Given the description of an element on the screen output the (x, y) to click on. 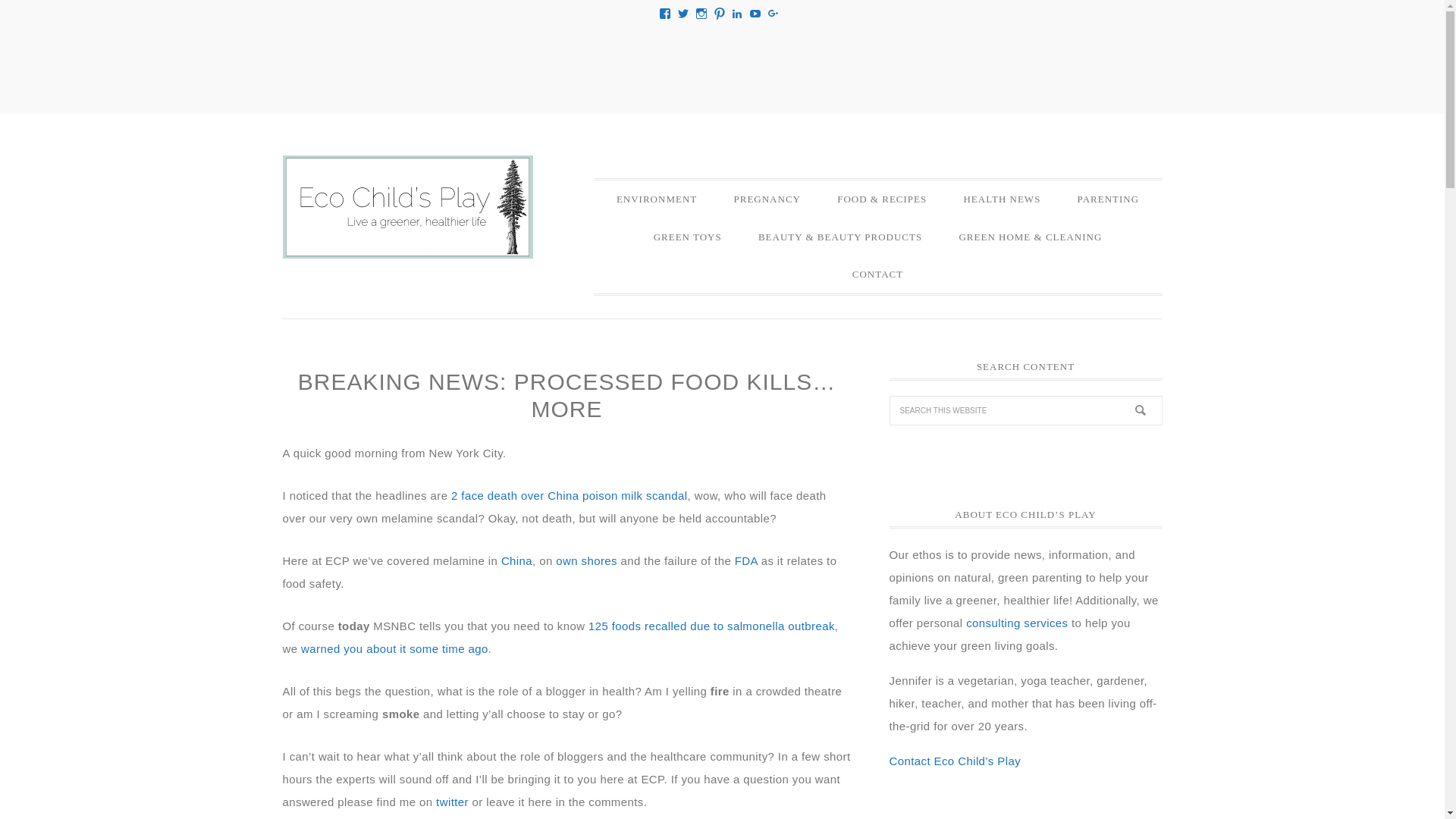
HEALTH NEWS (1001, 199)
PREGNANCY (766, 199)
GREEN TOYS (687, 237)
125 foods recalled due to salmonella outbreak (711, 625)
ENVIRONMENT (656, 199)
FDA (746, 559)
CONTACT (877, 274)
ECO CHILD'S PLAY (407, 206)
China (516, 559)
